Given the description of an element on the screen output the (x, y) to click on. 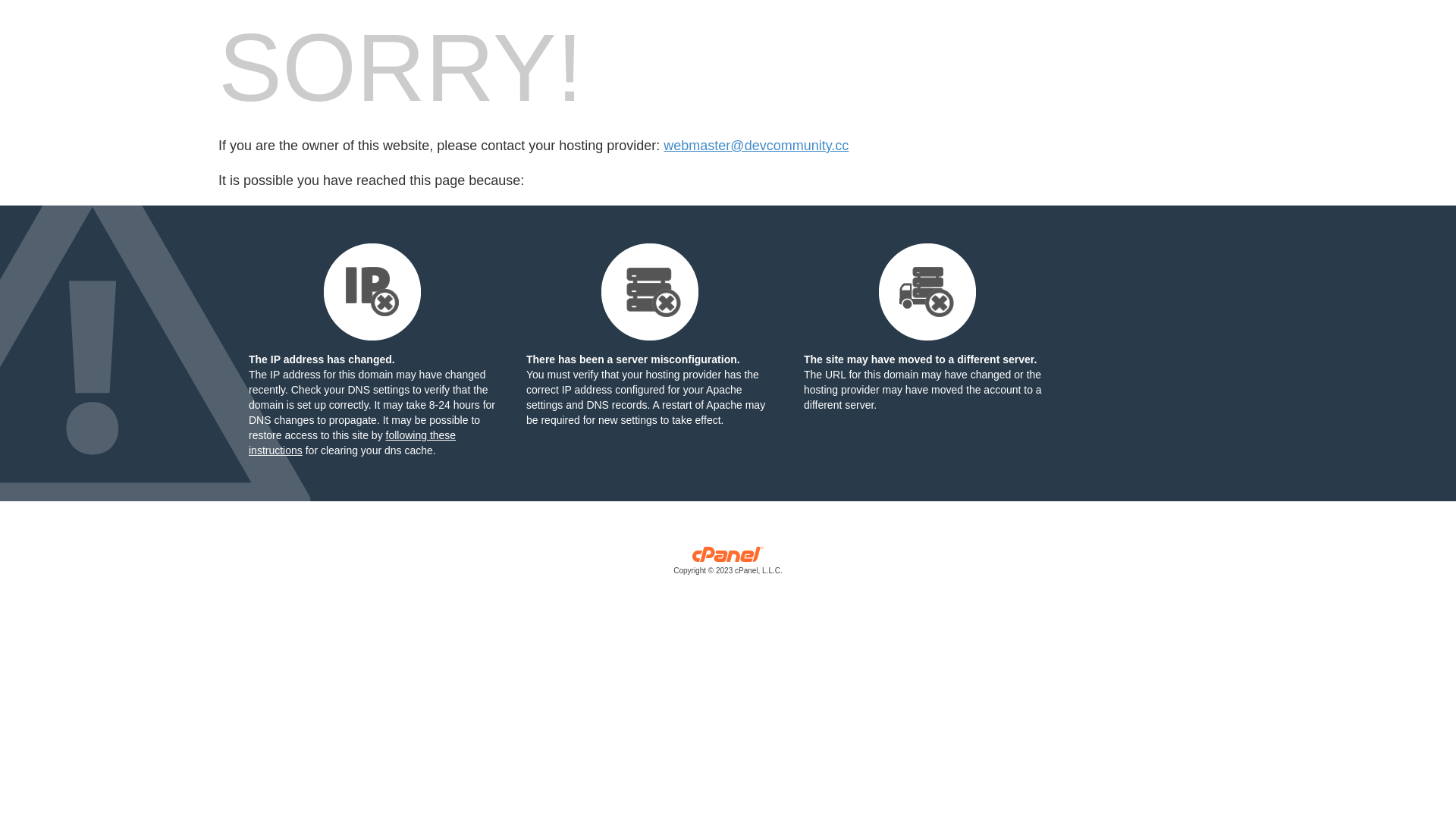
webmaster@devcommunity.cc Element type: text (755, 145)
following these instructions Element type: text (351, 442)
